Given the description of an element on the screen output the (x, y) to click on. 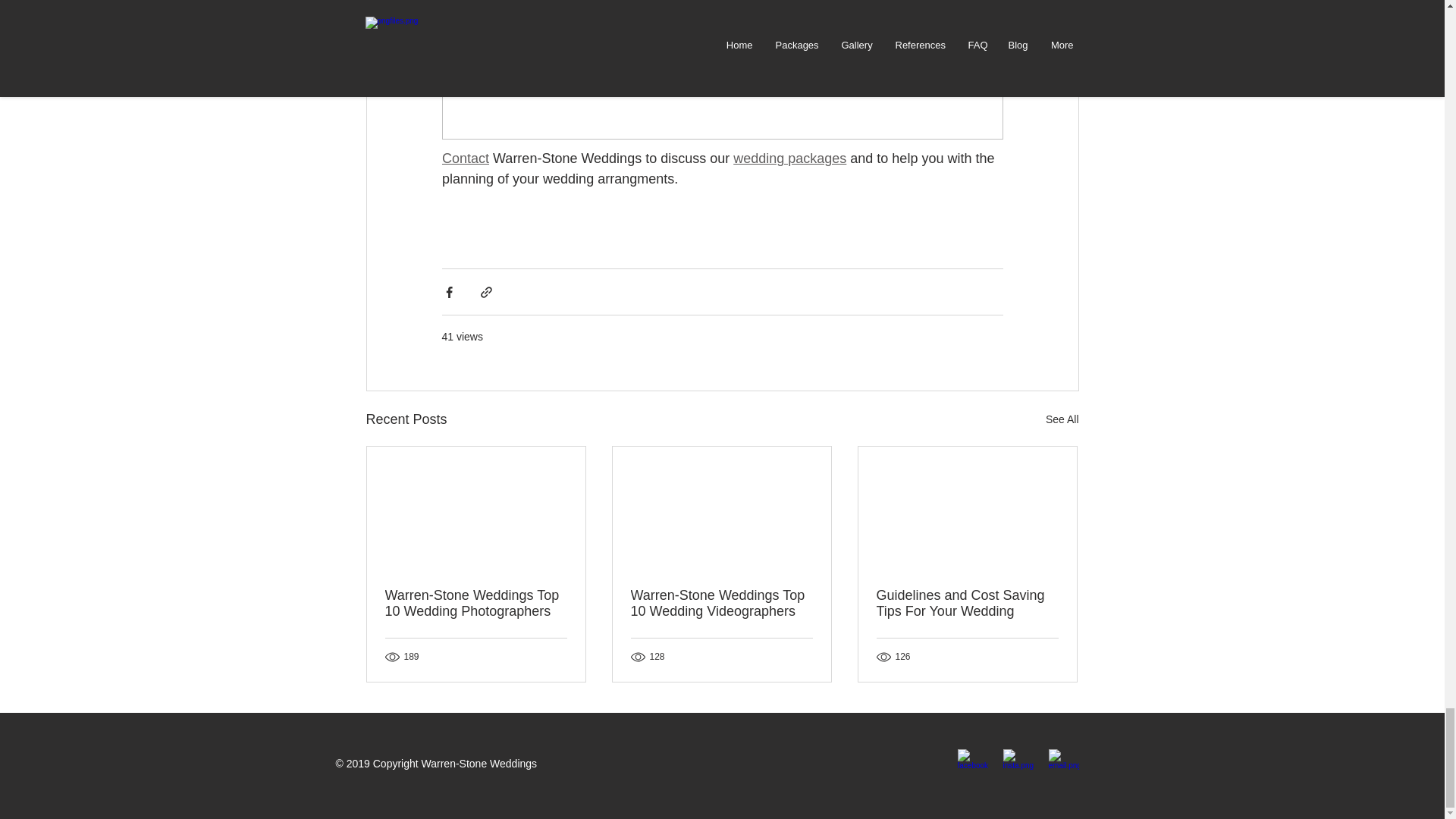
See All (1061, 419)
Guidelines and Cost Saving Tips For Your Wedding (967, 603)
Contact (464, 158)
wedding packages (789, 158)
Warren-Stone Weddings Top 10 Wedding Photographers (476, 603)
Warren-Stone Weddings Top 10 Wedding Videographers (721, 603)
